Given the description of an element on the screen output the (x, y) to click on. 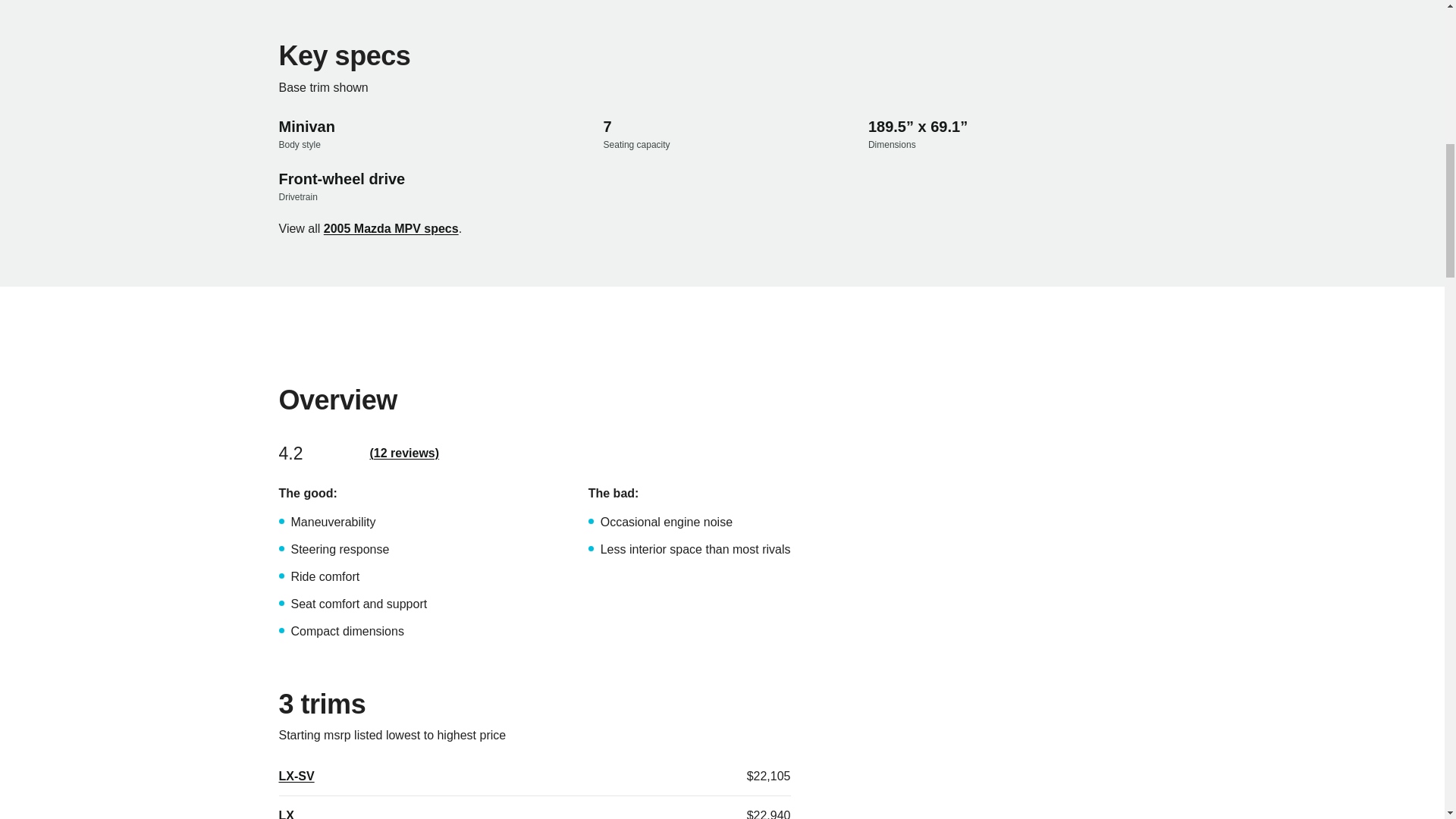
2005 Mazda MPV specs (390, 229)
LX-SV (296, 776)
LX (286, 812)
